Given the description of an element on the screen output the (x, y) to click on. 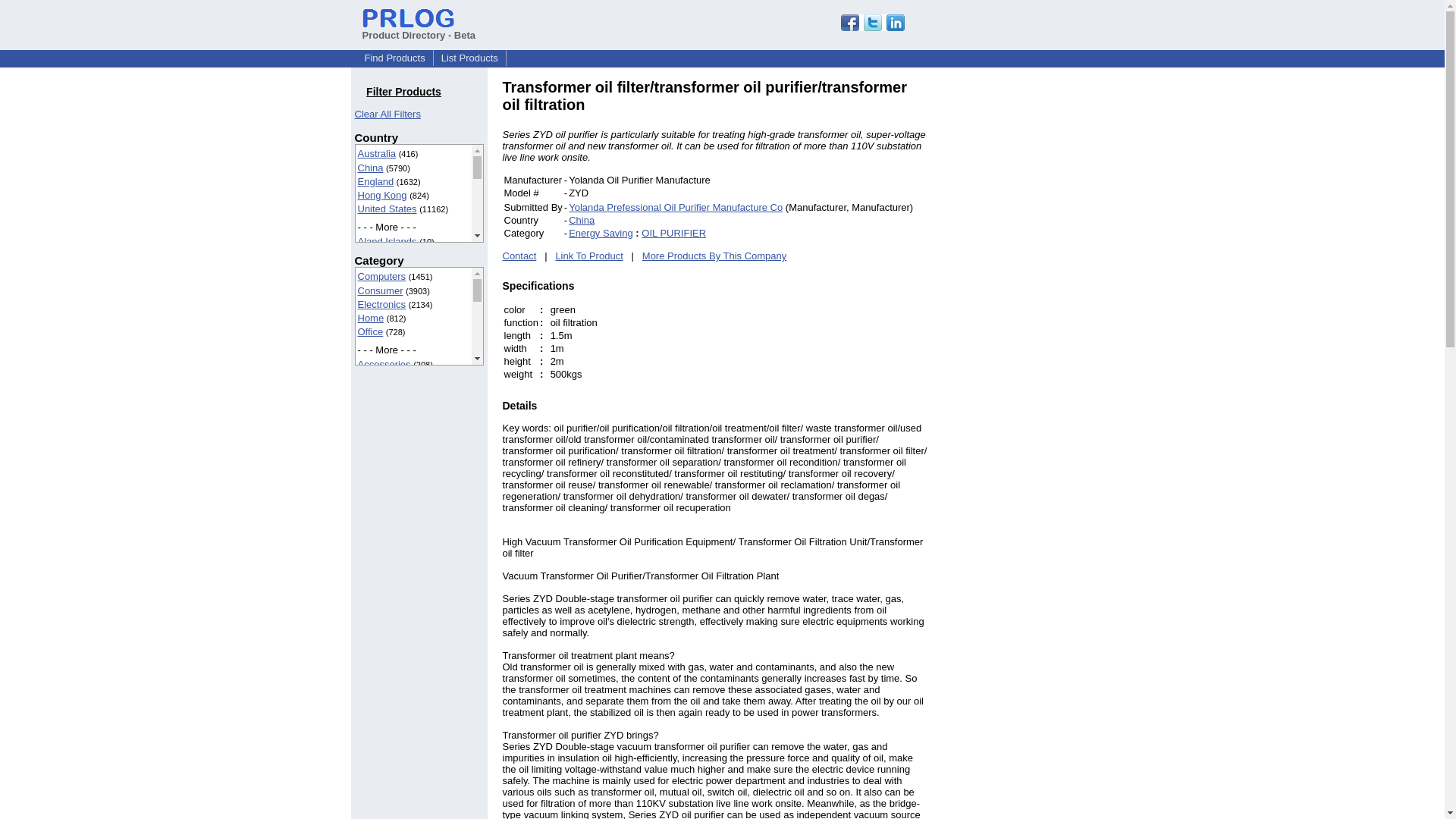
Kenya (371, 447)
South Africa (384, 613)
United States (387, 208)
England (376, 181)
Philippines (382, 558)
Share this page! (872, 27)
Singapore (380, 599)
Italy (366, 433)
Australia (377, 153)
Click on an option to filter or browse by that option (419, 315)
